Given the description of an element on the screen output the (x, y) to click on. 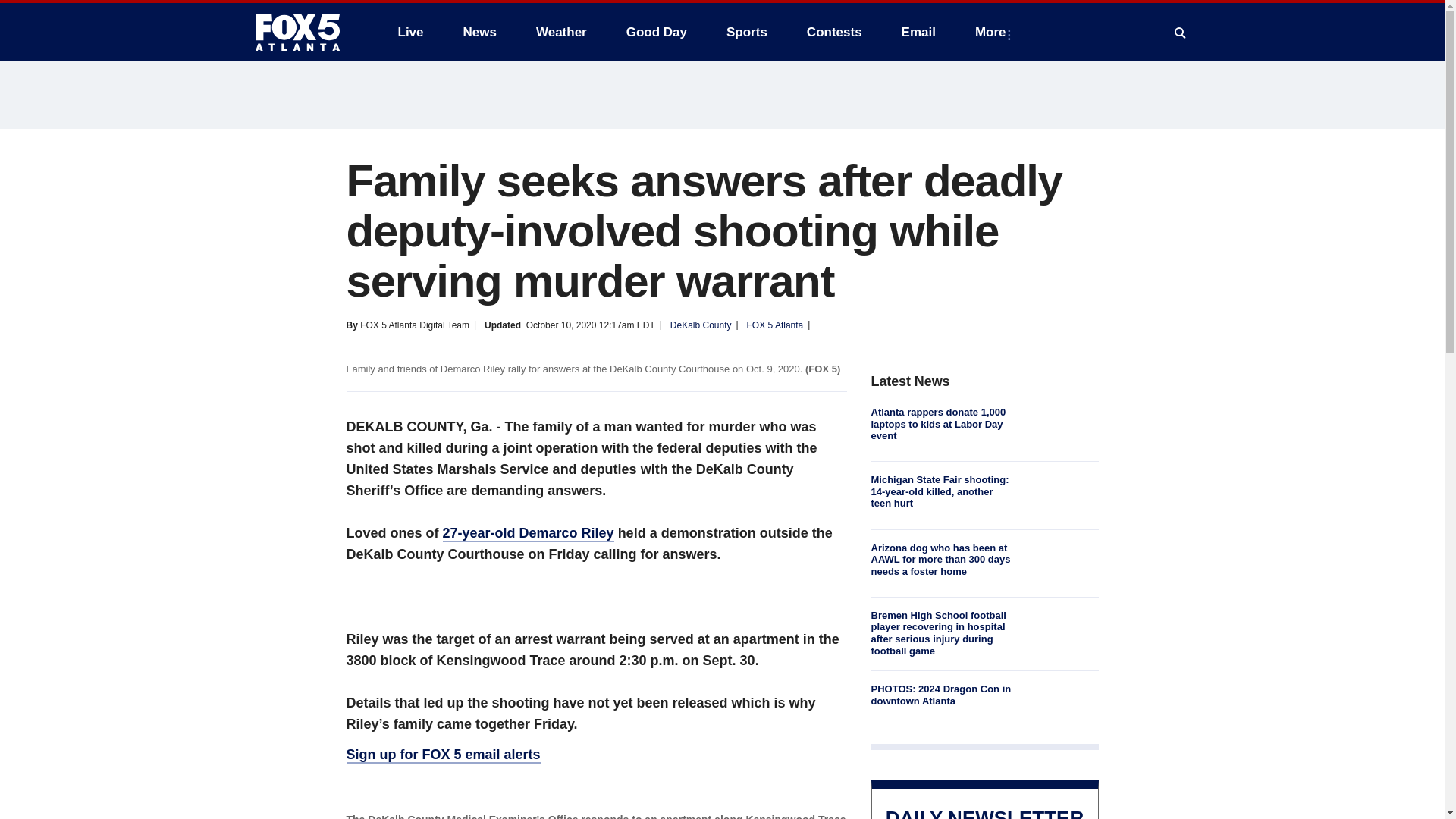
Weather (561, 32)
Live (410, 32)
News (479, 32)
Sports (746, 32)
Good Day (656, 32)
More (993, 32)
Contests (834, 32)
Email (918, 32)
